Given the description of an element on the screen output the (x, y) to click on. 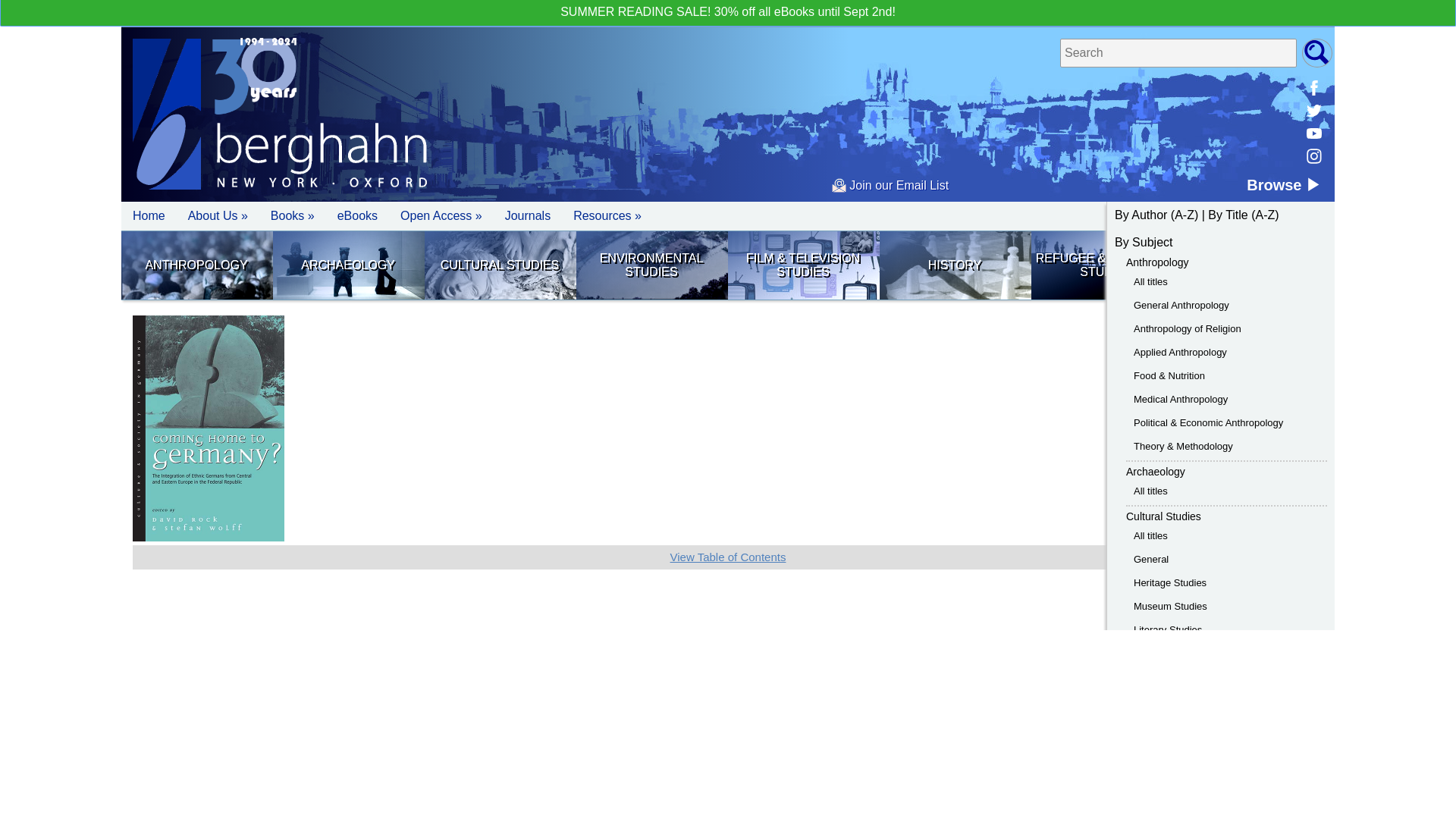
By Subject (1143, 241)
All titles (1150, 535)
Medical Anthropology (1180, 398)
Heritage Studies (1170, 582)
Cultural Studies (500, 264)
Anthropology (195, 264)
All titles (1150, 281)
General (1151, 559)
Archaeology (348, 264)
Archaeology (1155, 471)
By Title (1227, 214)
Cultural Studies (1163, 516)
Museum Studies (1170, 605)
Film Studies (802, 265)
Anthropology of Religion (1187, 328)
